Given the description of an element on the screen output the (x, y) to click on. 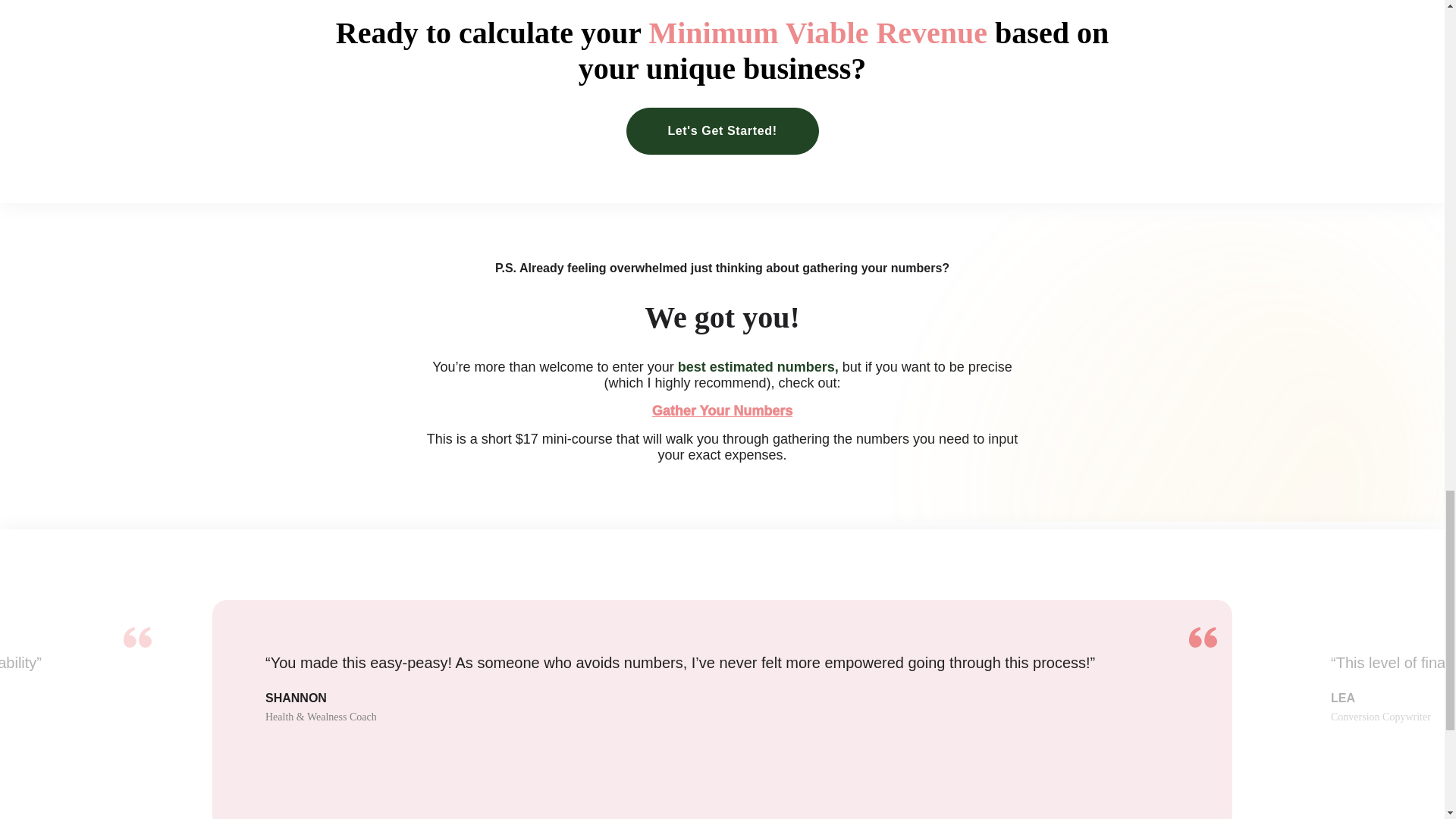
Gather Your Numbers (722, 410)
Let's Get Started! (722, 130)
